Given the description of an element on the screen output the (x, y) to click on. 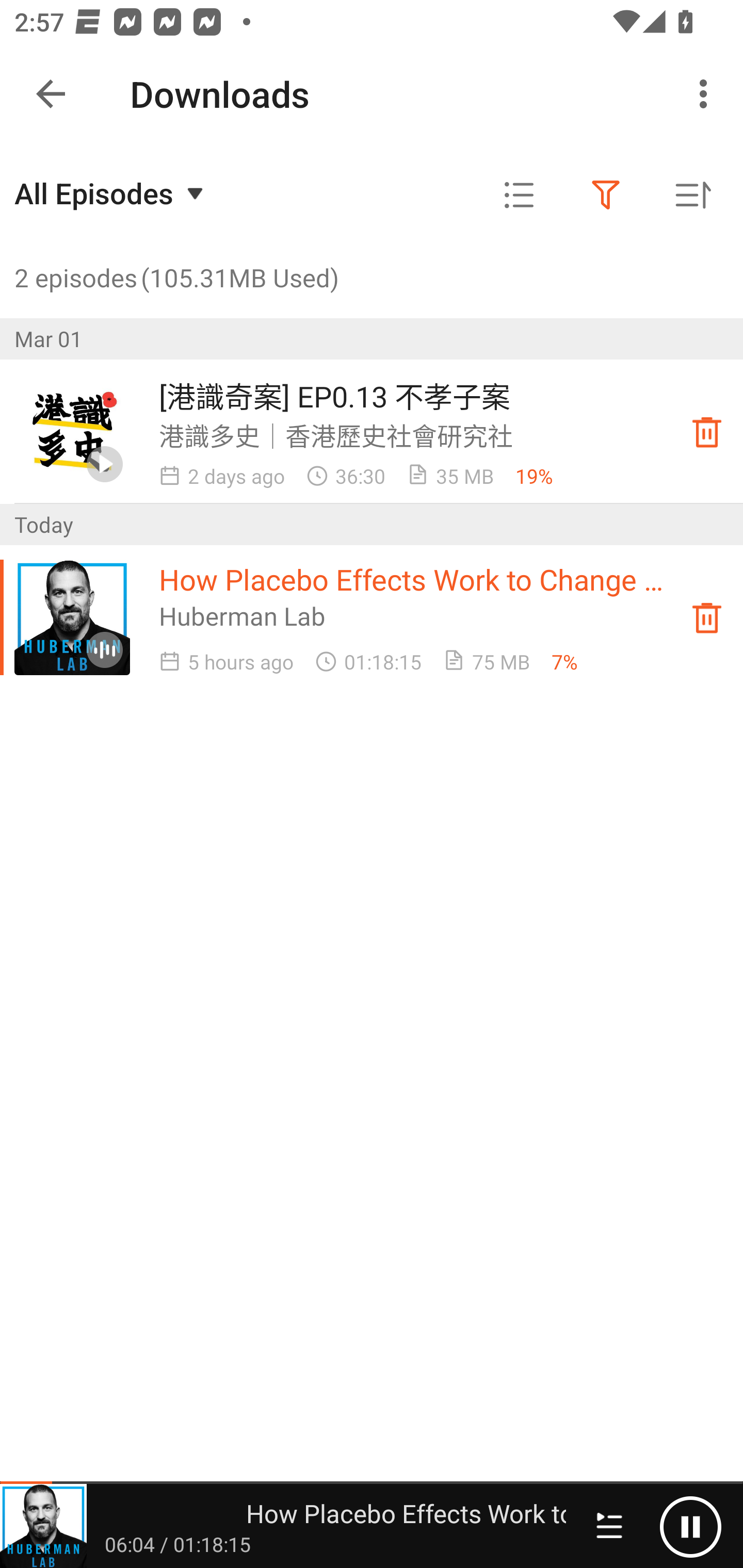
5.0 Downloading 1 episode VIEW (371, 88)
Navigate up (50, 93)
More options (706, 93)
All Episodes (111, 192)
 (518, 195)
 (605, 195)
 Sorted by oldest first (692, 195)
Downloaded (706, 431)
Downloaded (706, 617)
Pause (654, 1525)
Pause (690, 1526)
